Given the description of an element on the screen output the (x, y) to click on. 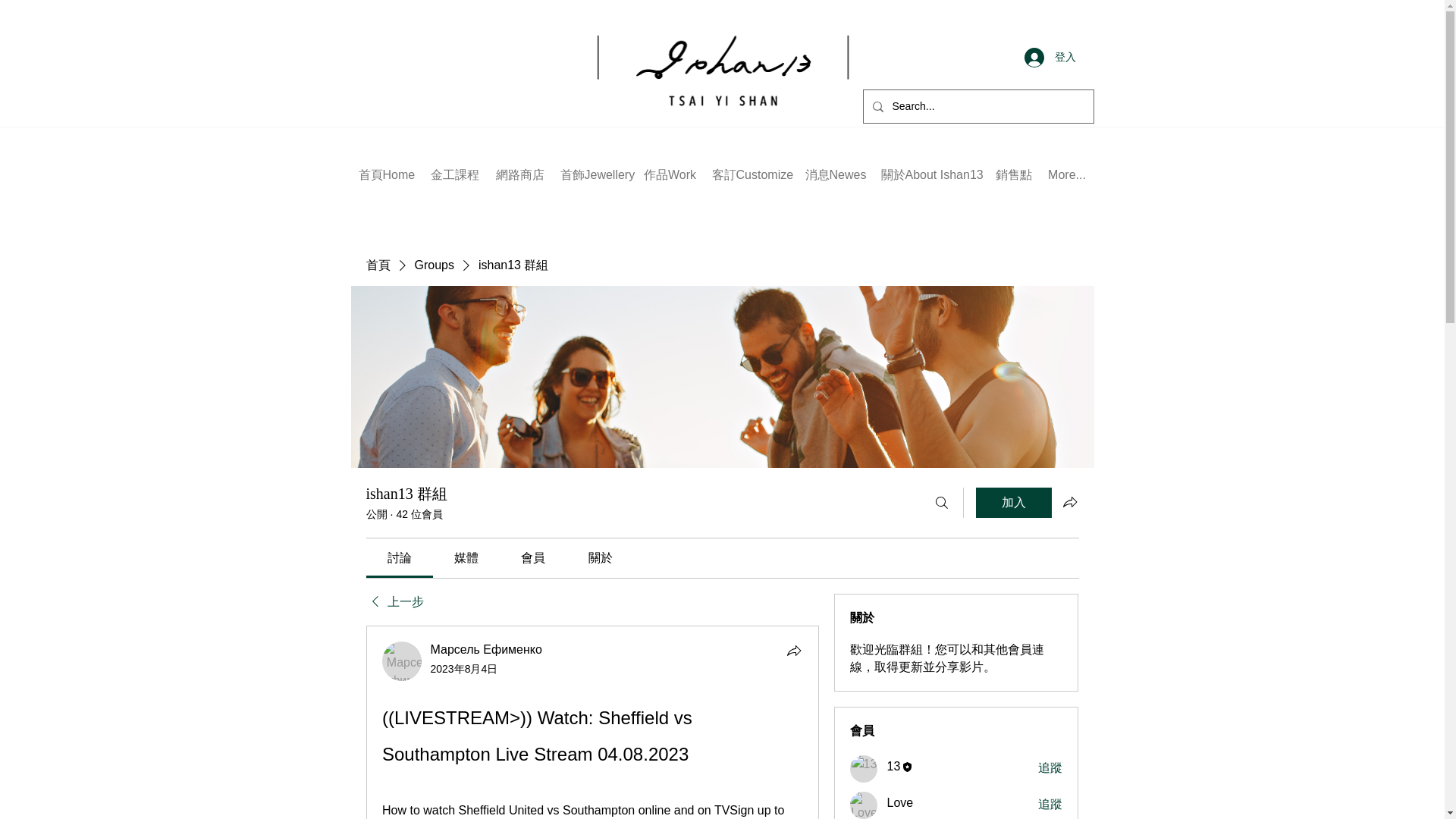
Love (863, 805)
13 (863, 768)
